Given the description of an element on the screen output the (x, y) to click on. 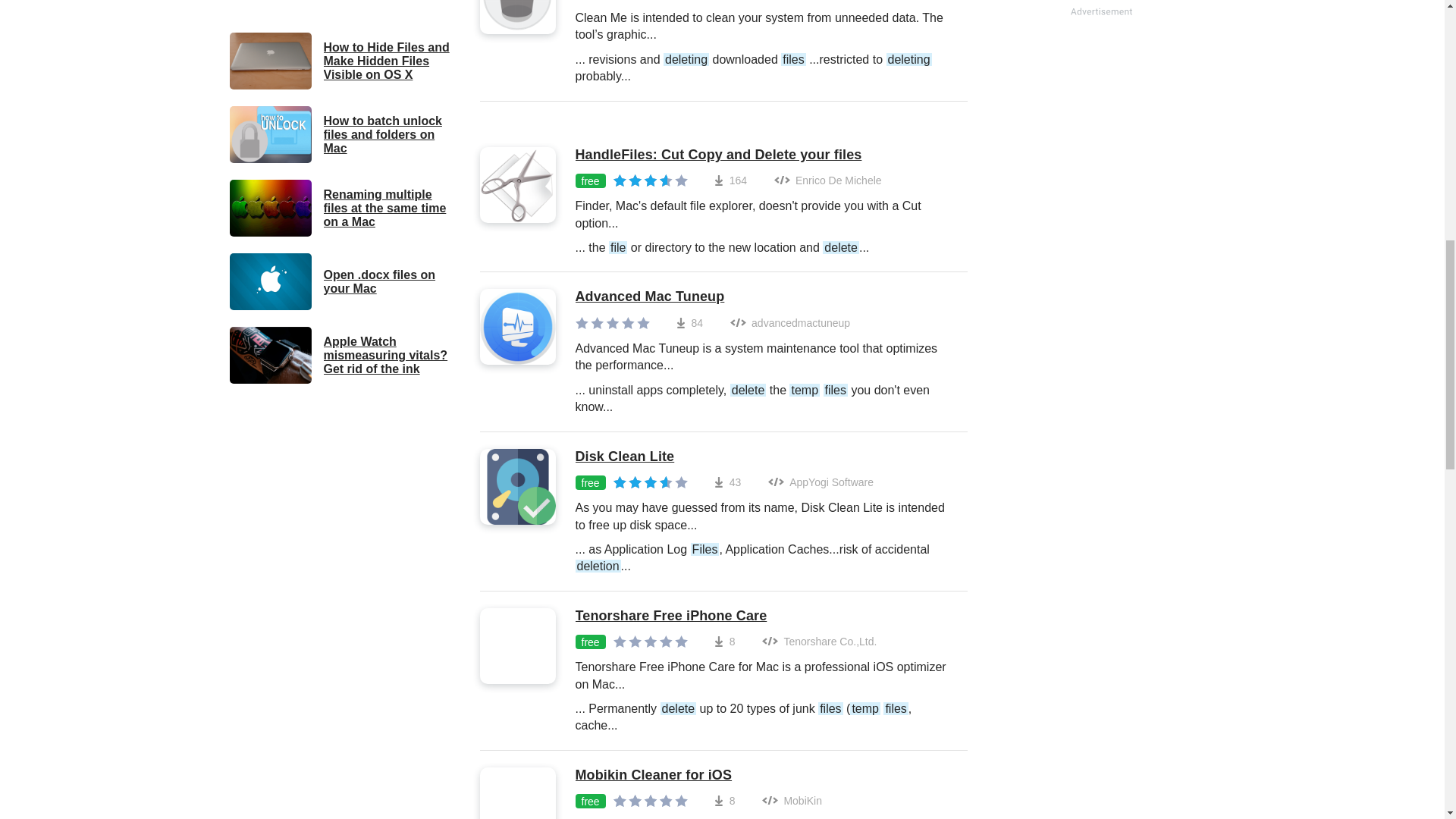
How to Hide Files and Make Hidden Files Visible on OS X (342, 60)
Tenorshare Free iPhone Care (763, 616)
Apple Watch mismeasuring vitals? Get rid of the ink (342, 355)
Mobikin Cleaner for iOS (763, 775)
Open .docx files on your Mac (342, 281)
HandleFiles: Cut Copy and Delete your files (763, 155)
Disk Clean Lite (763, 457)
Advanced Mac Tuneup (763, 297)
HandleFiles: Cut Copy and Delete your files (763, 155)
Renaming multiple files at the same time on a Mac (342, 207)
How to batch unlock files and folders on Mac (342, 134)
Advanced Mac Tuneup (763, 297)
Tenorshare Free iPhone Care (763, 616)
Disk Clean Lite (763, 457)
